Given the description of an element on the screen output the (x, y) to click on. 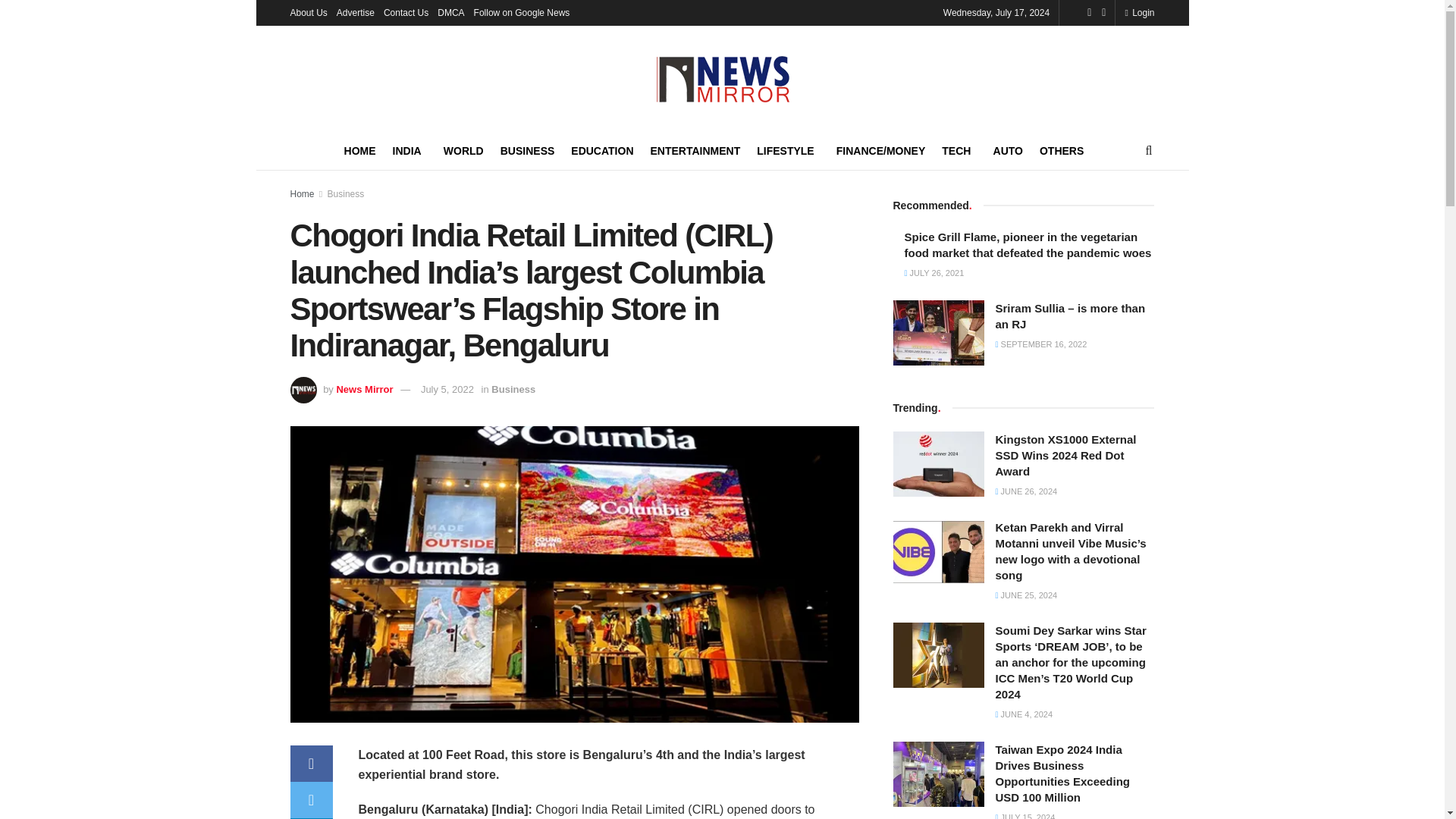
BUSINESS (527, 150)
HOME (359, 150)
About Us (307, 12)
LIFESTYLE (788, 150)
Login (1139, 12)
Contact Us (406, 12)
Advertise (355, 12)
WORLD (463, 150)
ENTERTAINMENT (695, 150)
AUTO (1007, 150)
EDUCATION (601, 150)
OTHERS (1064, 150)
INDIA (409, 150)
Follow on Google News (522, 12)
TECH (958, 150)
